Given the description of an element on the screen output the (x, y) to click on. 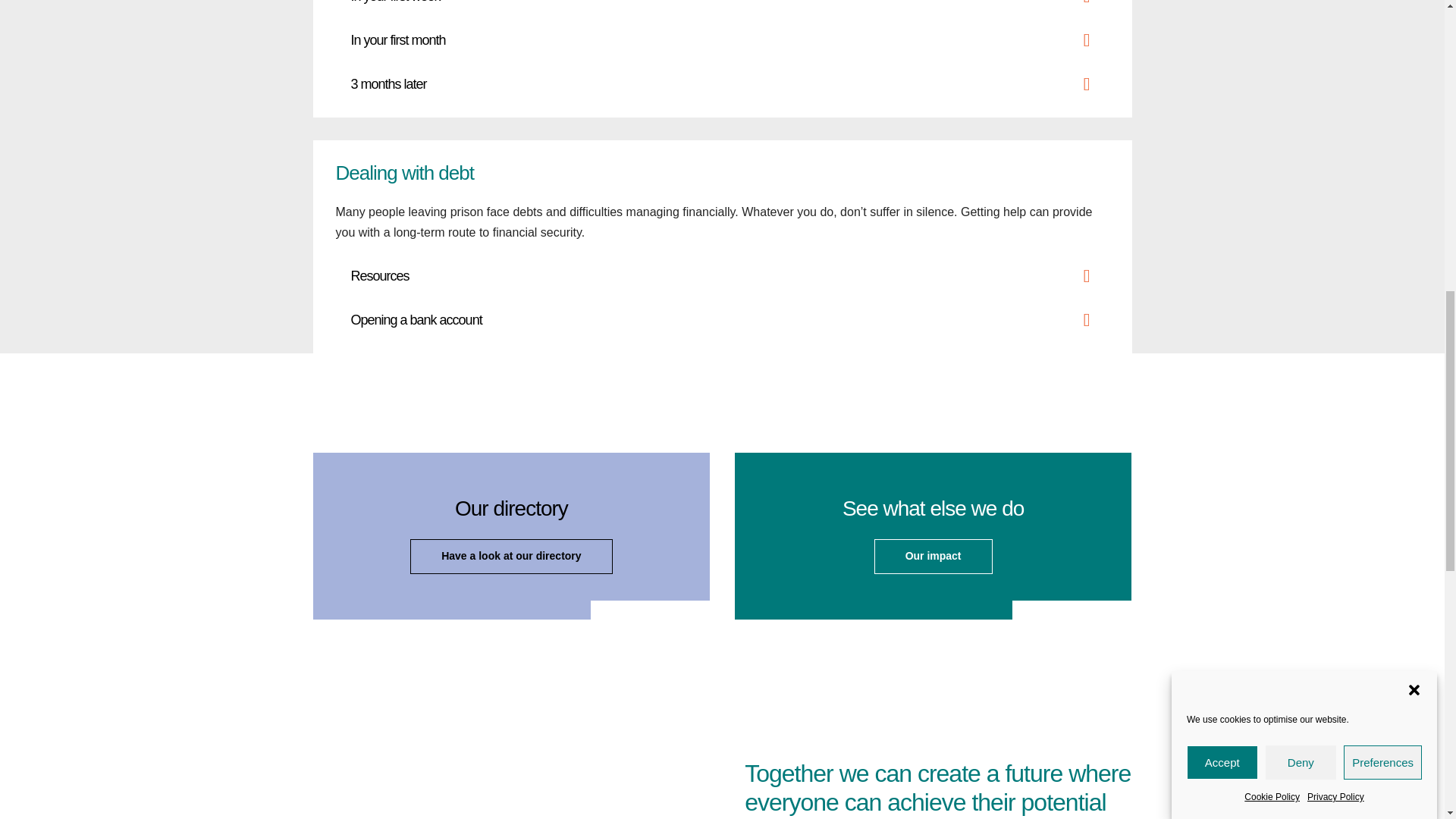
Deny (1300, 156)
Preferences (1382, 142)
Cookie Policy (1272, 107)
Donate homepage image new (505, 760)
Privacy Policy (1335, 98)
Accept (1221, 185)
